Given the description of an element on the screen output the (x, y) to click on. 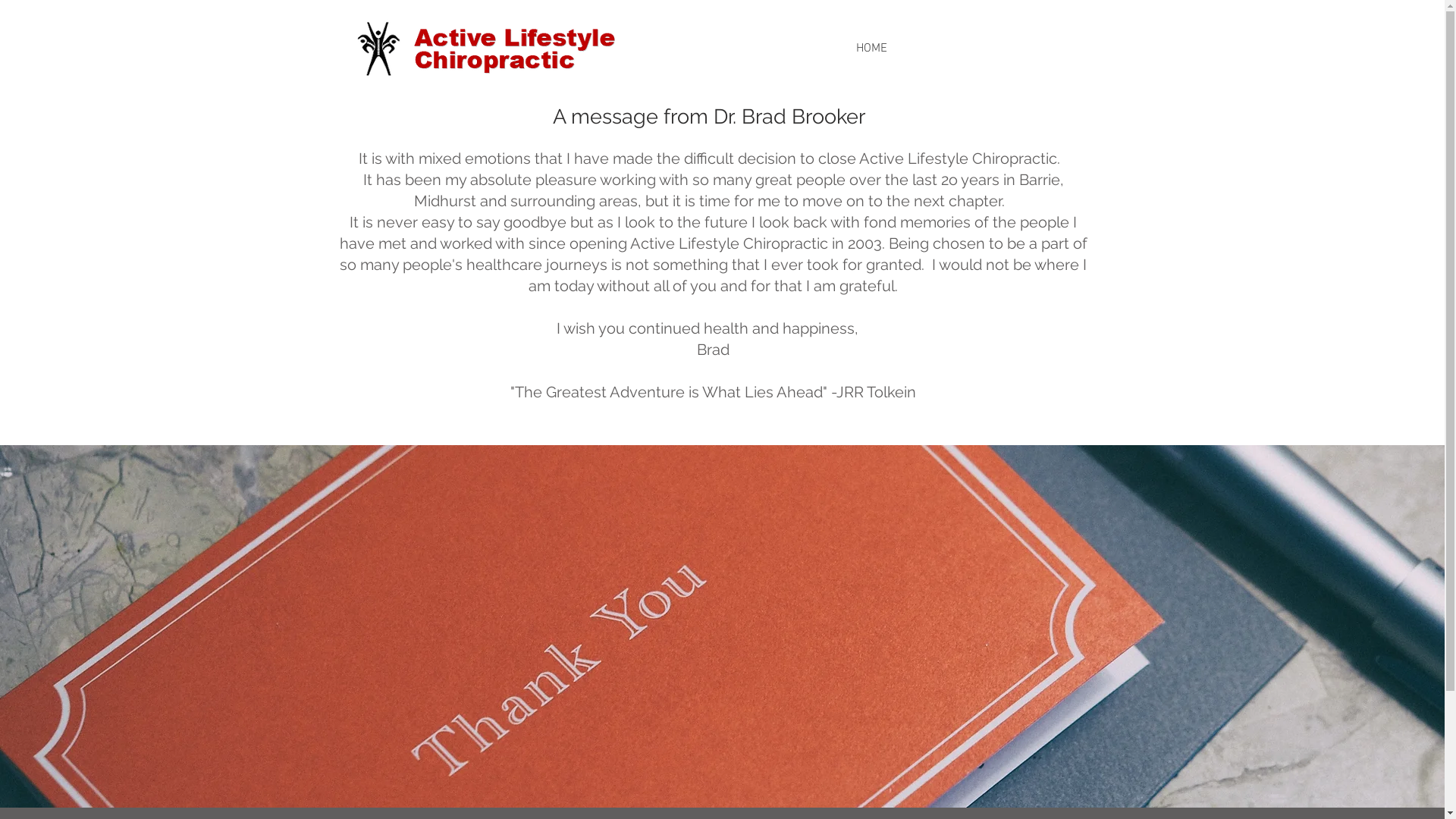
HOME Element type: text (871, 48)
